Given the description of an element on the screen output the (x, y) to click on. 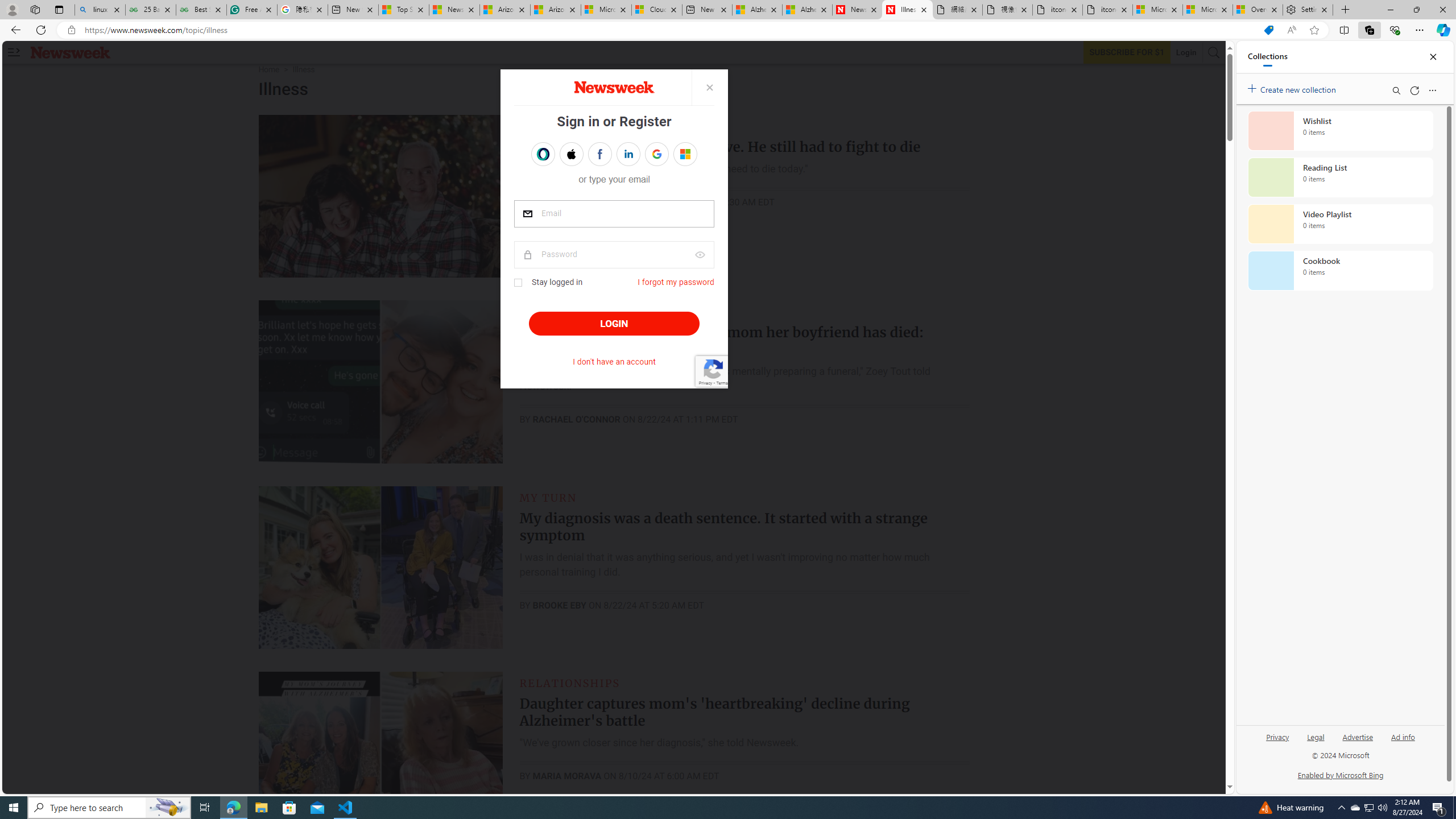
linux basic - Search (99, 9)
More options menu (1432, 90)
I don't have an account (613, 362)
AutomationID: search-btn (1213, 51)
Subscribe to our service (1126, 52)
Best SSL Certificates Provider in India - GeeksforGeeks (201, 9)
Video Playlist collection, 0 items (1339, 223)
I forgot my password (675, 282)
Newsweek logo (70, 51)
Sign in with FACEBOOK (599, 154)
